Given the description of an element on the screen output the (x, y) to click on. 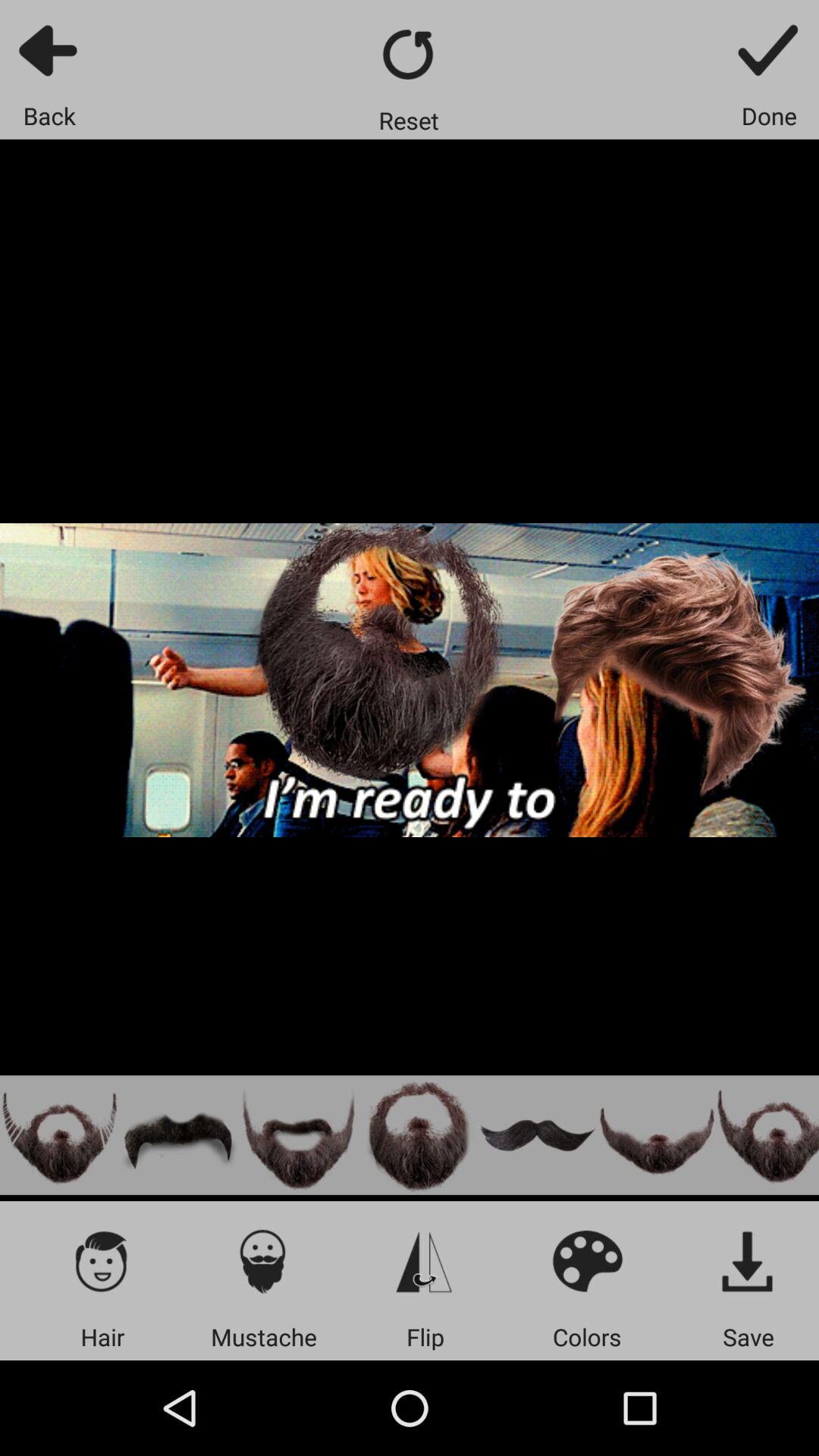
add handlebar mustache (537, 1134)
